Given the description of an element on the screen output the (x, y) to click on. 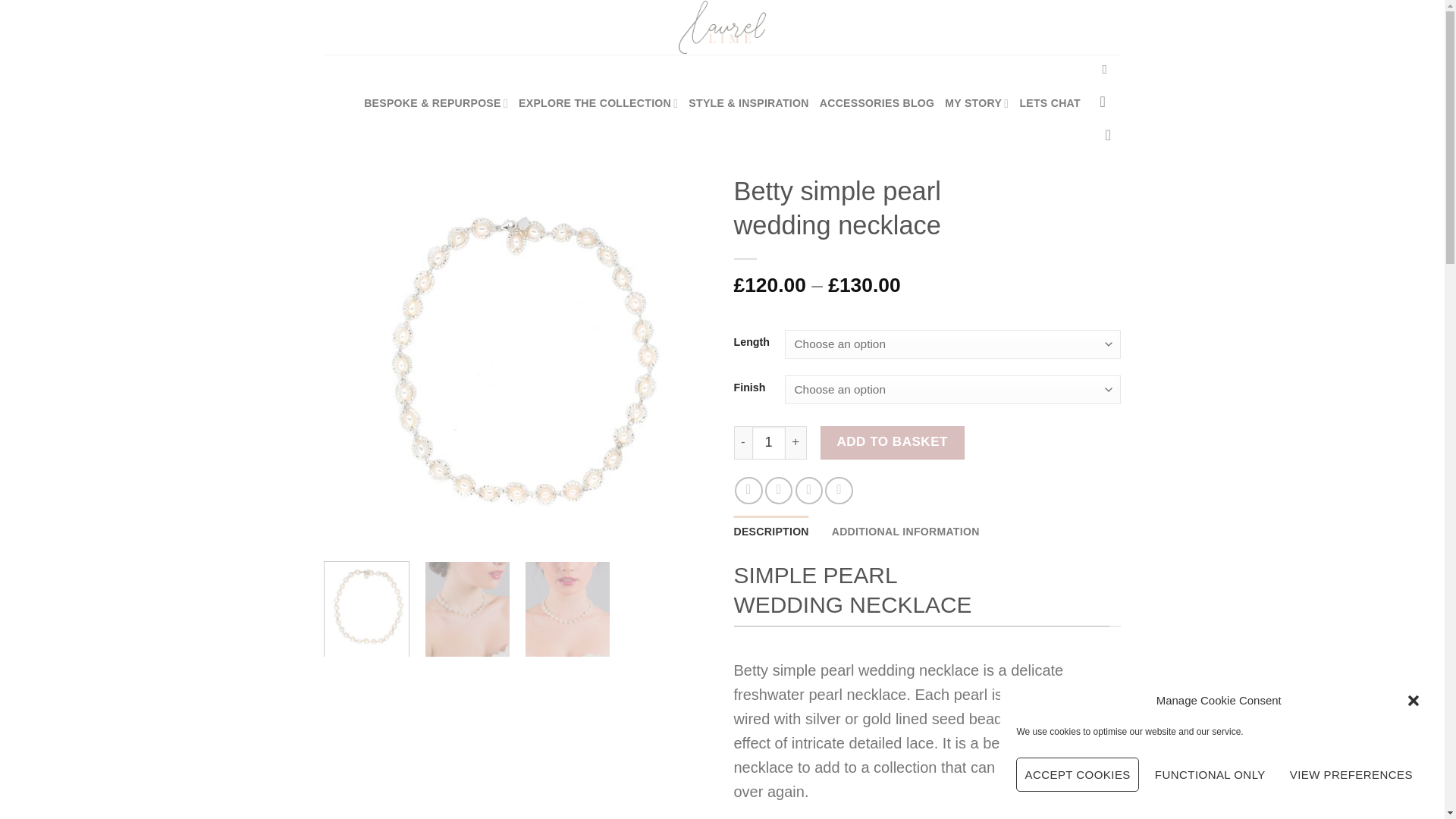
EXPLORE THE COLLECTION (598, 102)
1 (769, 442)
FUNCTIONAL ONLY (1210, 774)
ACCESSORIES BLOG (876, 102)
VIEW PREFERENCES (1351, 774)
Share on Twitter (778, 490)
Share on Facebook (748, 490)
Email to a Friend (808, 490)
LETS CHAT (1049, 102)
ACCEPT COOKIES (1077, 774)
MY STORY (976, 102)
Pin on Pinterest (838, 490)
